Given the description of an element on the screen output the (x, y) to click on. 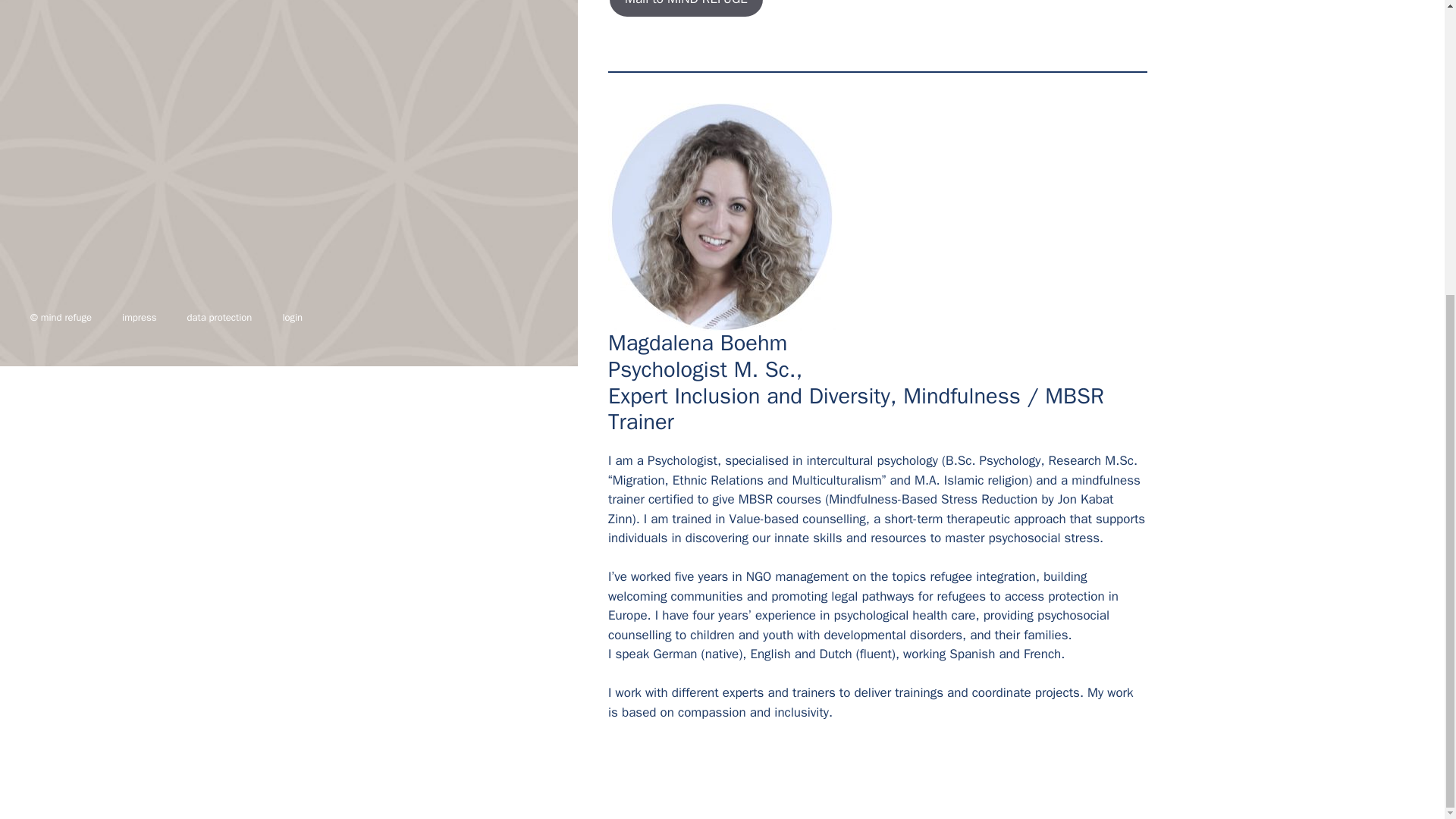
login (291, 316)
data protection (218, 316)
impress (138, 316)
Mail to MIND REFUGE (686, 9)
